Given the description of an element on the screen output the (x, y) to click on. 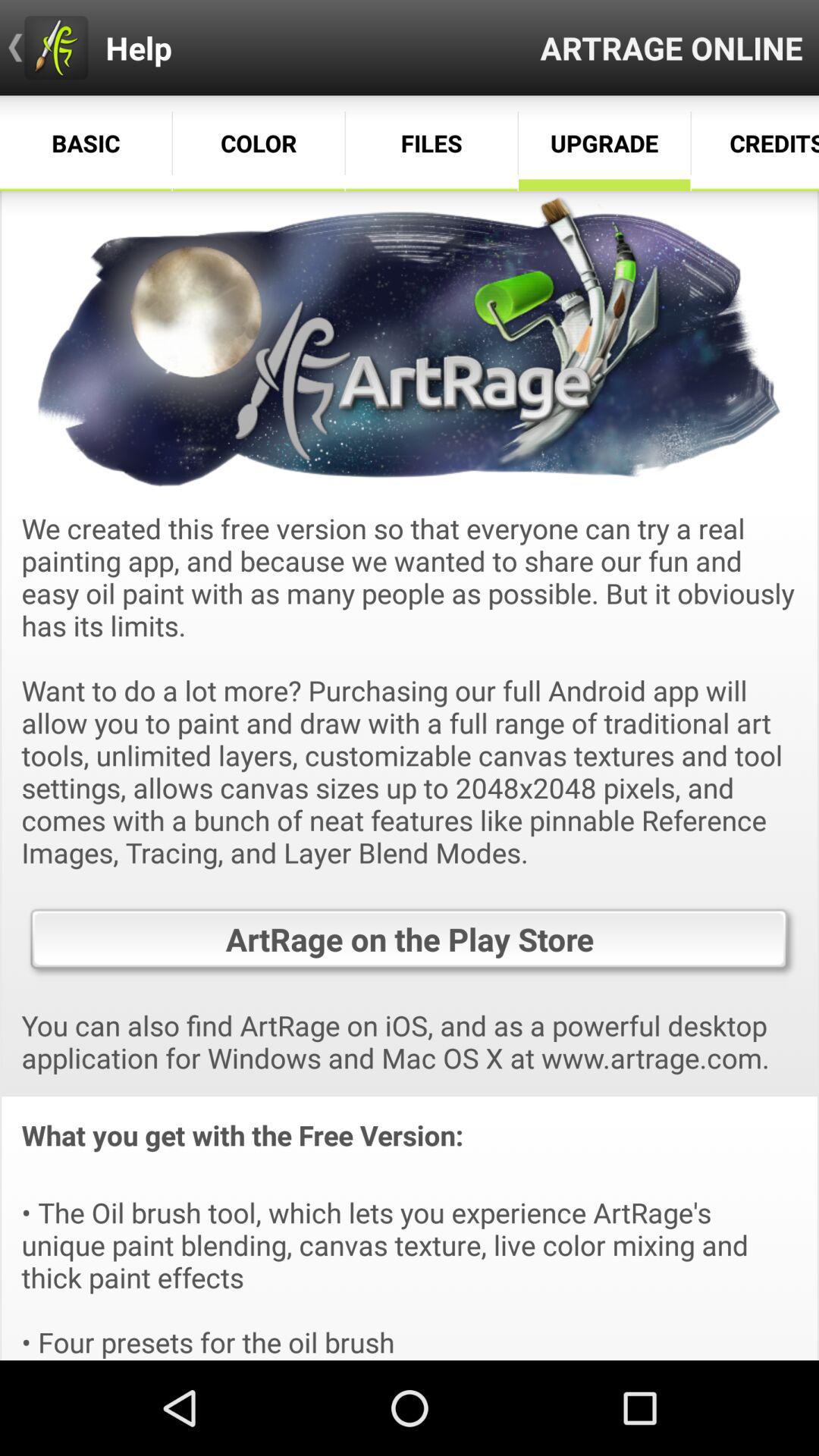
choose the item next to the help app (671, 47)
